Given the description of an element on the screen output the (x, y) to click on. 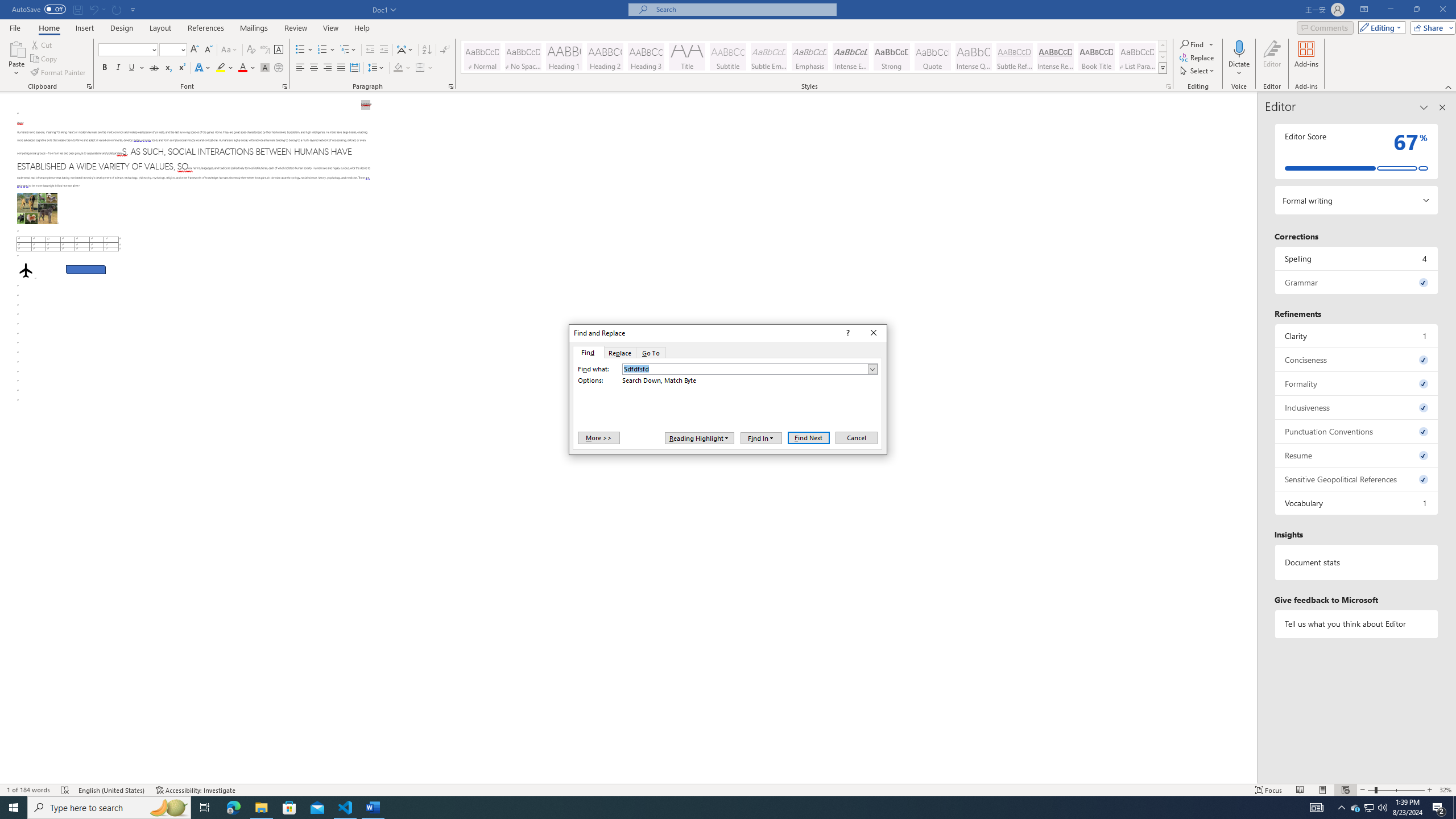
Rectangle: Diagonal Corners Snipped 2 (85, 269)
Editor Score 67% (1356, 151)
Start (13, 807)
Resume, 0 issues. Press space or enter to review items. (1356, 454)
